Given the description of an element on the screen output the (x, y) to click on. 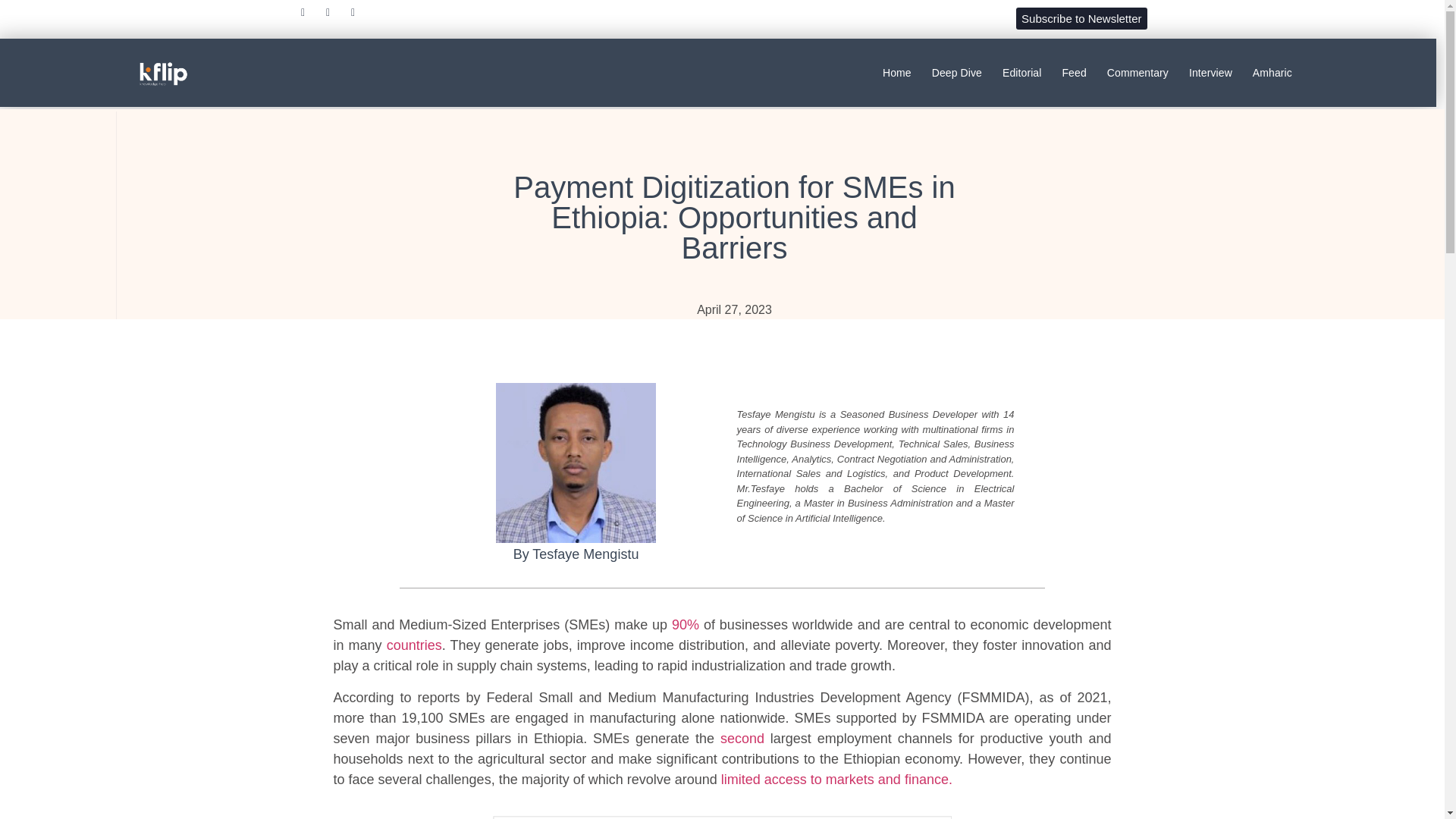
limited access to markets and finance. (836, 779)
countries (414, 645)
second (742, 738)
Deep Dive (956, 72)
Interview (1210, 72)
Subscribe to Newsletter (1081, 18)
Editorial (1022, 72)
Amharic (1272, 72)
Commentary (1137, 72)
